Given the description of an element on the screen output the (x, y) to click on. 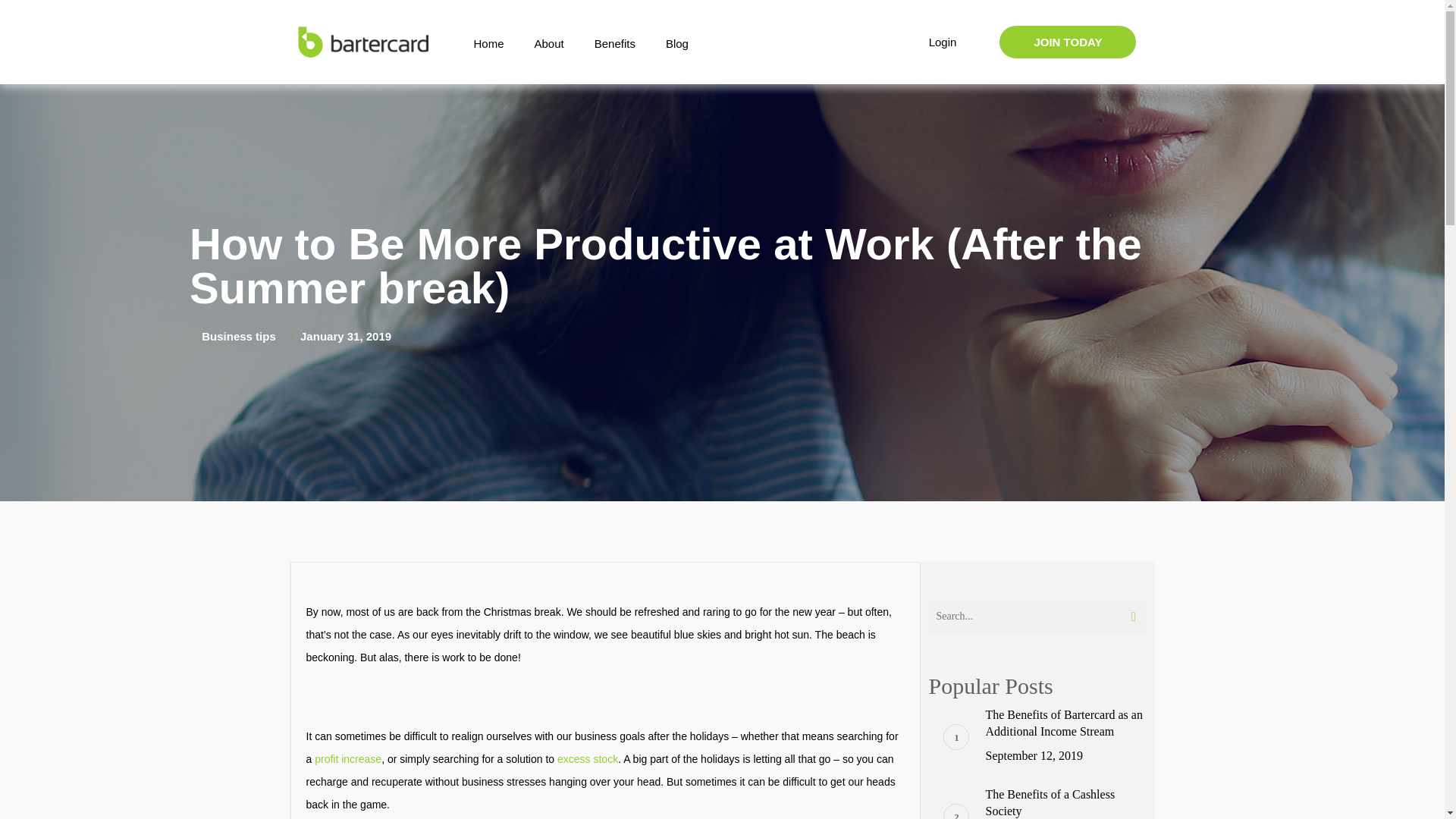
Blog (676, 43)
Benefits (614, 43)
Home (488, 43)
About (548, 43)
Search for: (1037, 616)
